Given the description of an element on the screen output the (x, y) to click on. 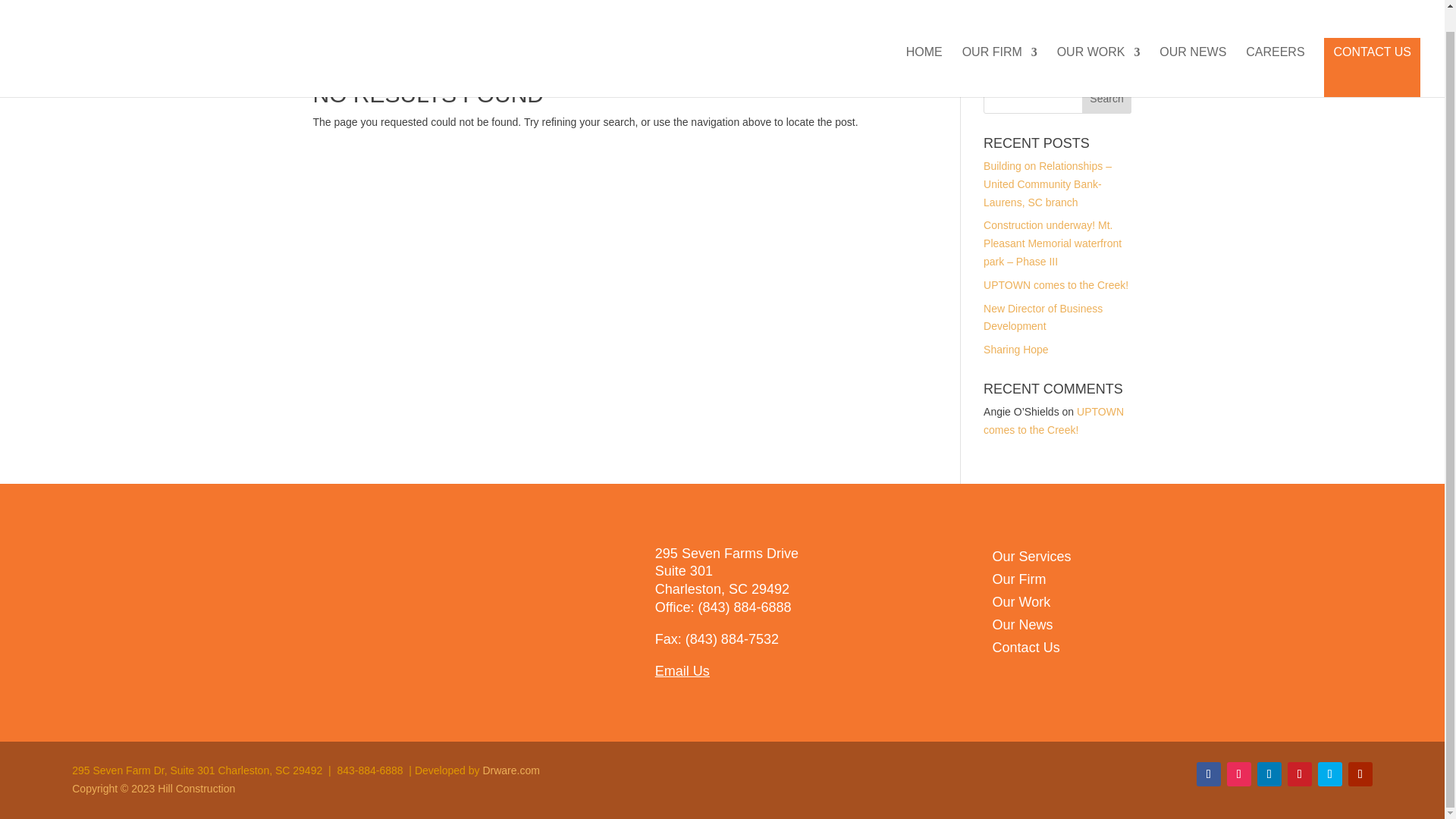
CONTACT US (1372, 46)
Our News (1022, 627)
New Director of Business Development (1043, 317)
Sharing Hope (1016, 349)
Follow on Twitter (1329, 774)
Our Firm (1019, 582)
UPTOWN comes to the Creek! (1054, 420)
Email Us (682, 670)
Follow on Facebook (1208, 774)
OUR FIRM (999, 49)
